Given the description of an element on the screen output the (x, y) to click on. 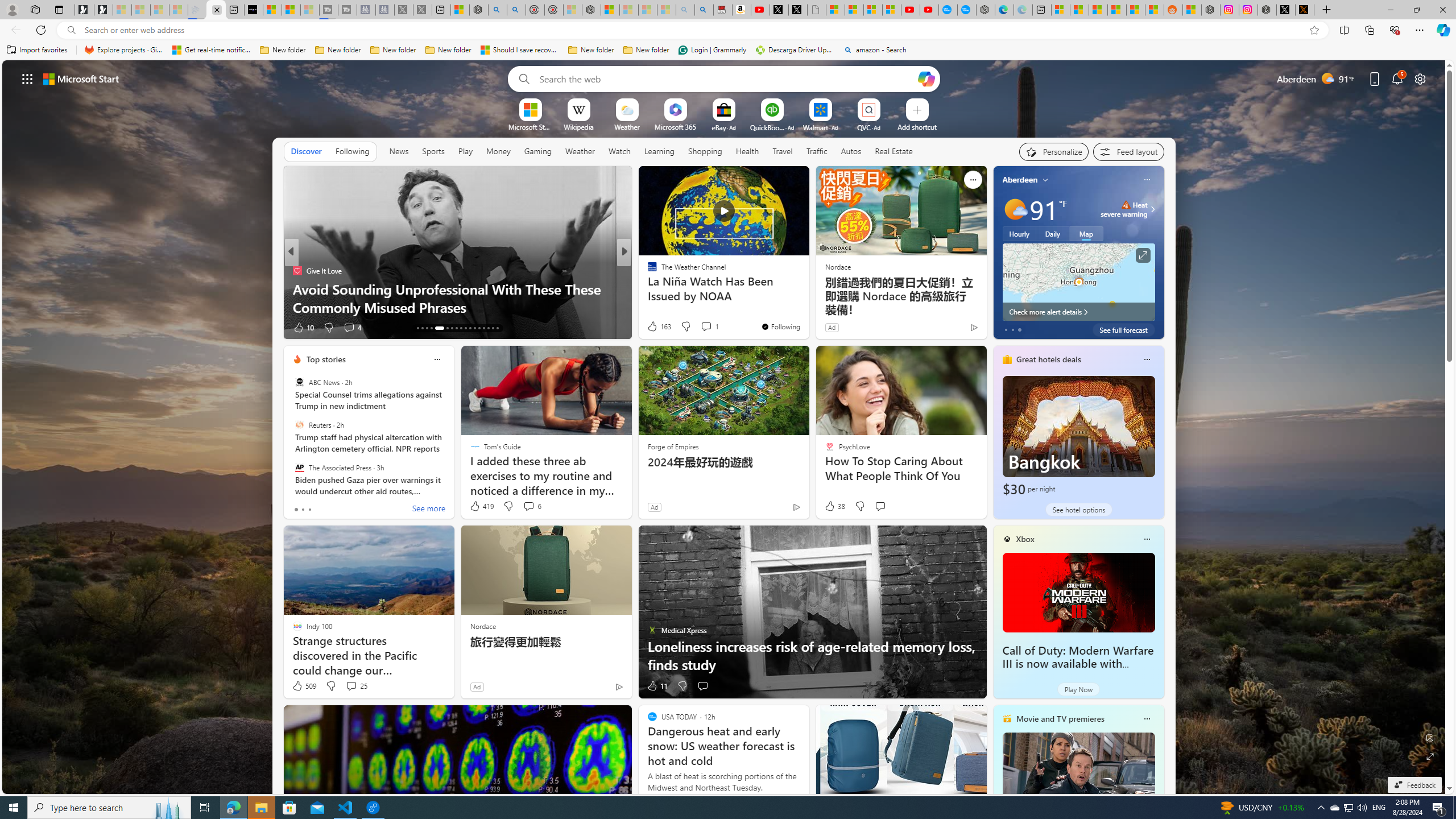
Top stories (325, 359)
AutomationID: tab-51 (488, 328)
Heat - Severe Heat severe warning (1123, 208)
help.x.com | 524: A timeout occurred (1304, 9)
Alternet (647, 270)
